Given the description of an element on the screen output the (x, y) to click on. 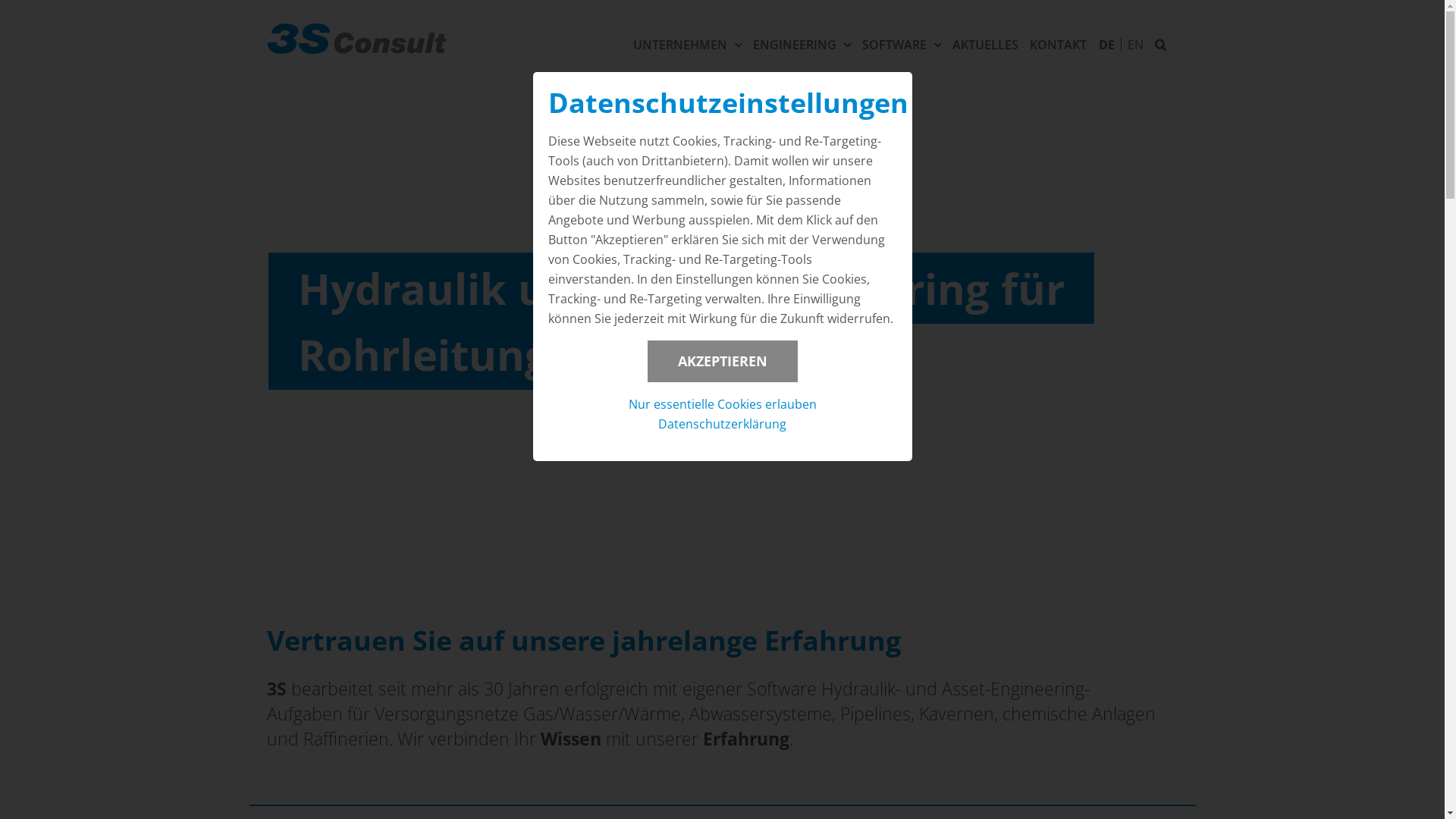
KONTAKT Element type: text (1057, 43)
Search Element type: hover (1159, 43)
UNTERNEHMEN Element type: text (686, 43)
Nur essentielle Cookies erlauben Element type: text (721, 403)
AKTUELLES Element type: text (985, 43)
ENGINEERING Element type: text (801, 43)
SOFTWARE Element type: text (900, 43)
AKZEPTIEREN Element type: text (722, 361)
DE Element type: text (1109, 44)
EN Element type: text (1134, 44)
